Given the description of an element on the screen output the (x, y) to click on. 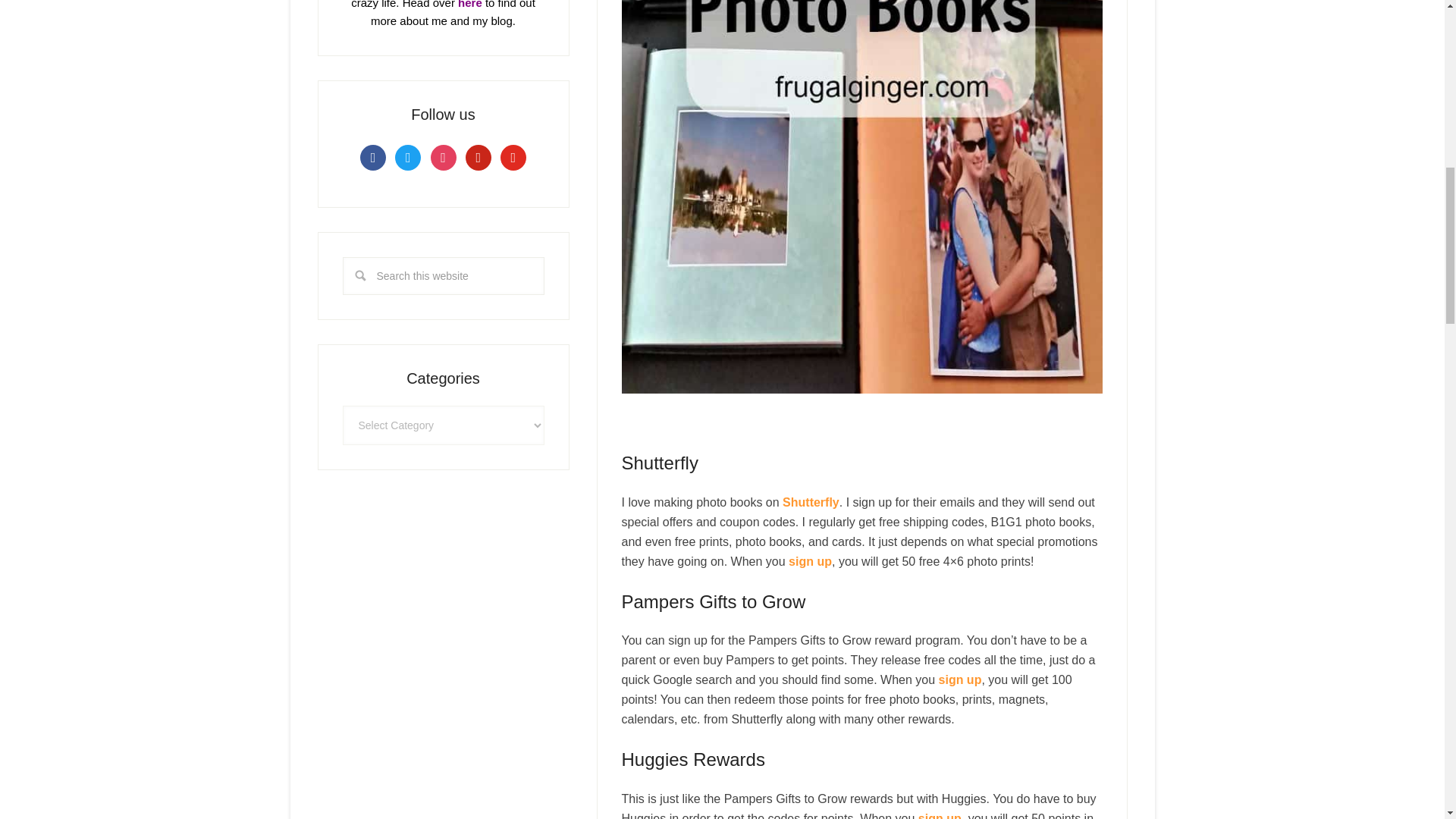
Default Label (512, 155)
Shutterfly (811, 502)
sign up (810, 561)
Twitter (407, 155)
Default Label (478, 155)
Instagram (443, 155)
Facebook (372, 155)
